Given the description of an element on the screen output the (x, y) to click on. 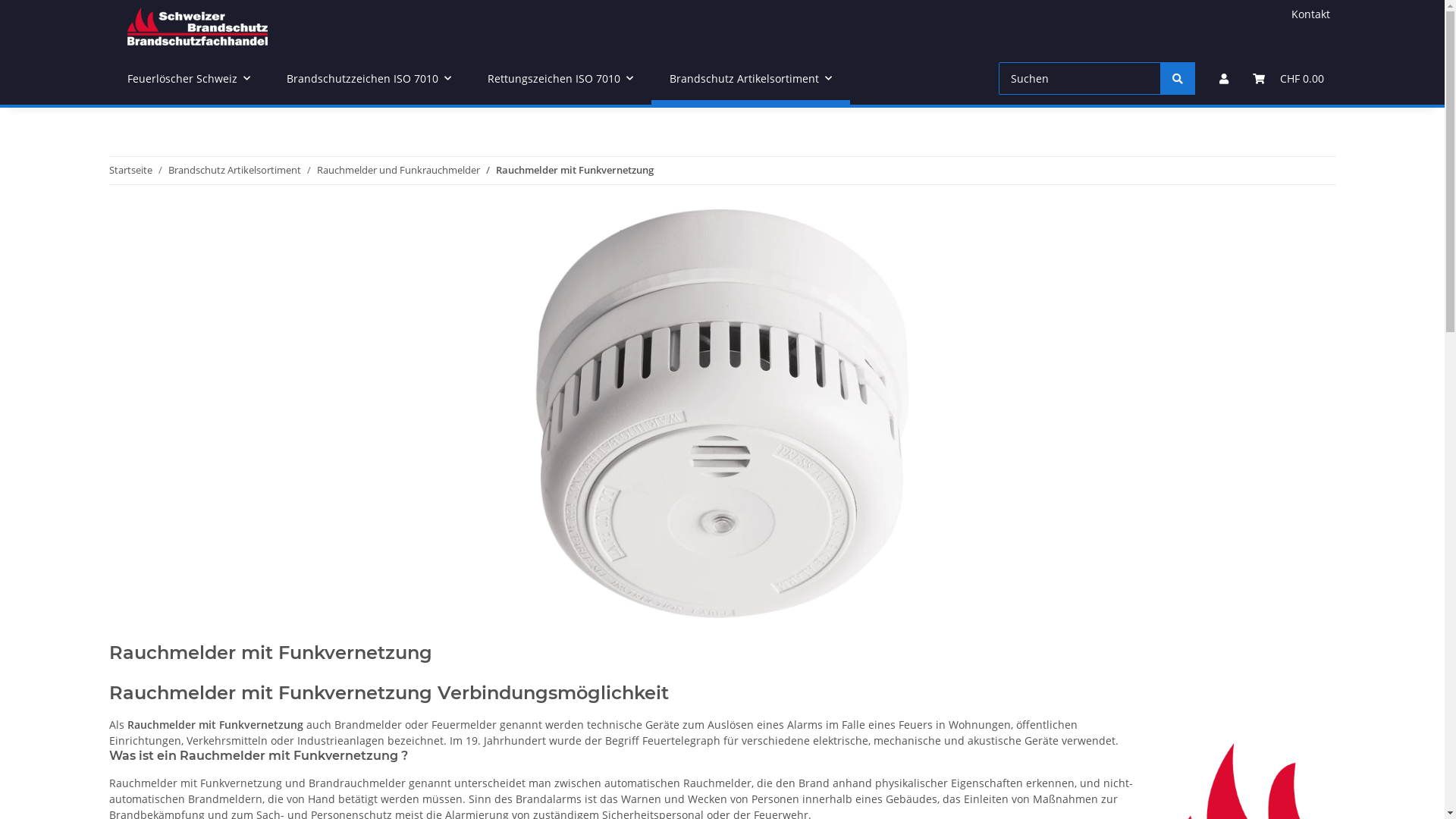
Brandschutz Artikelsortiment Element type: text (749, 78)
Rauchmelder und Funkrauchmelder Element type: text (398, 170)
Rettungszeichen ISO 7010 Element type: text (559, 78)
Brandschutzzeichen ISO 7010 Element type: text (368, 78)
Brandschutz Artikelsortiment Element type: text (234, 170)
Alarm118 Element type: hover (197, 26)
CHF 0.00 Element type: text (1288, 78)
Startseite Element type: text (130, 170)
Kontakt Element type: text (1310, 14)
Rauchmelder mit Funkvernetzung Element type: text (574, 170)
